Given the description of an element on the screen output the (x, y) to click on. 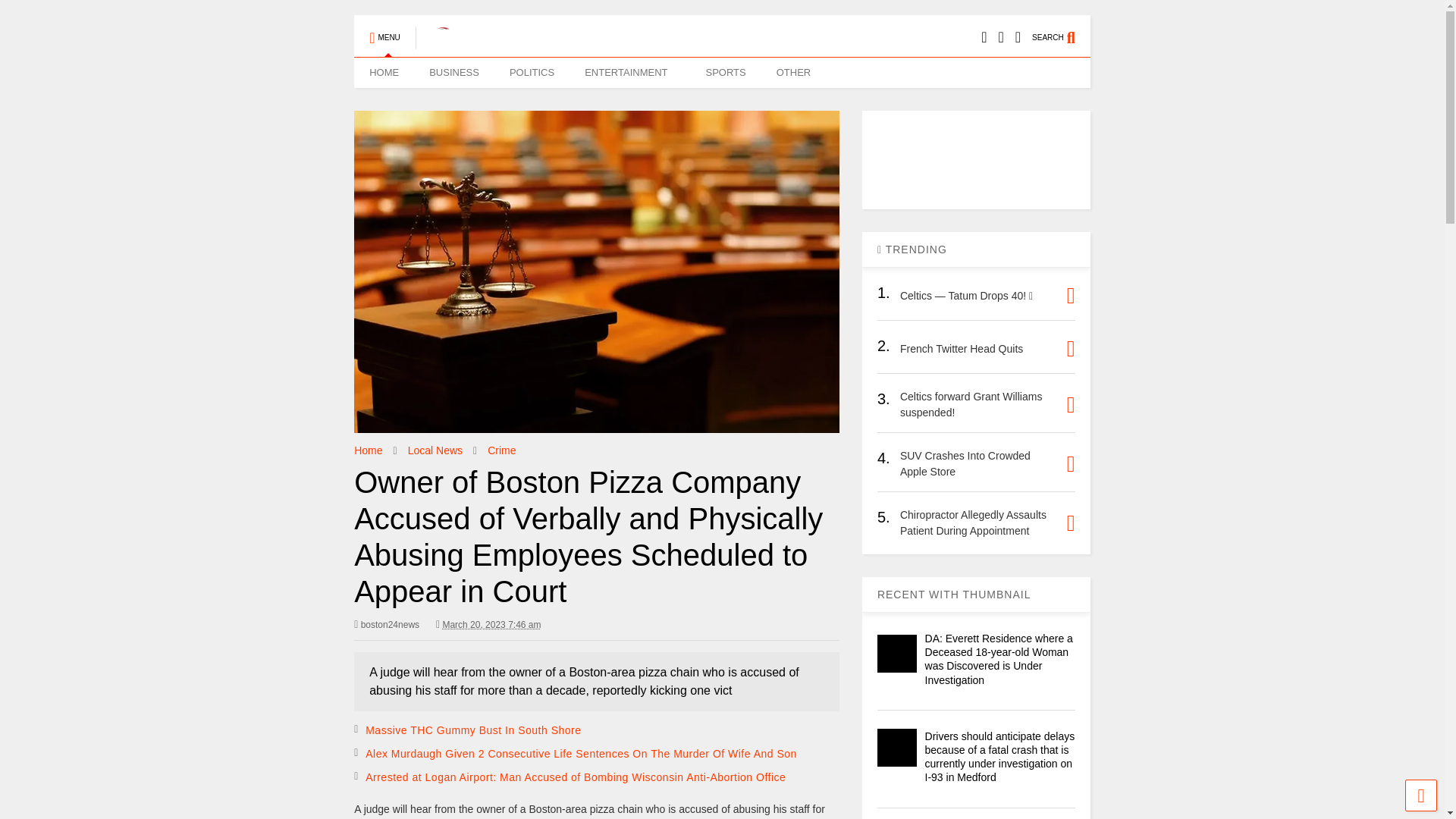
MENU (383, 30)
POLITICS (532, 72)
boston24news (386, 624)
OTHER (794, 72)
Massive THC Gummy Bust In South Shore (472, 729)
Massive THC Gummy Bust In South Shore (472, 729)
SPORTS (725, 72)
Crime (501, 450)
2023-03-20T07:46:58-04:00 (488, 624)
Local News (435, 450)
Boston 24 Hour News (434, 42)
BUSINESS (454, 72)
